Given the description of an element on the screen output the (x, y) to click on. 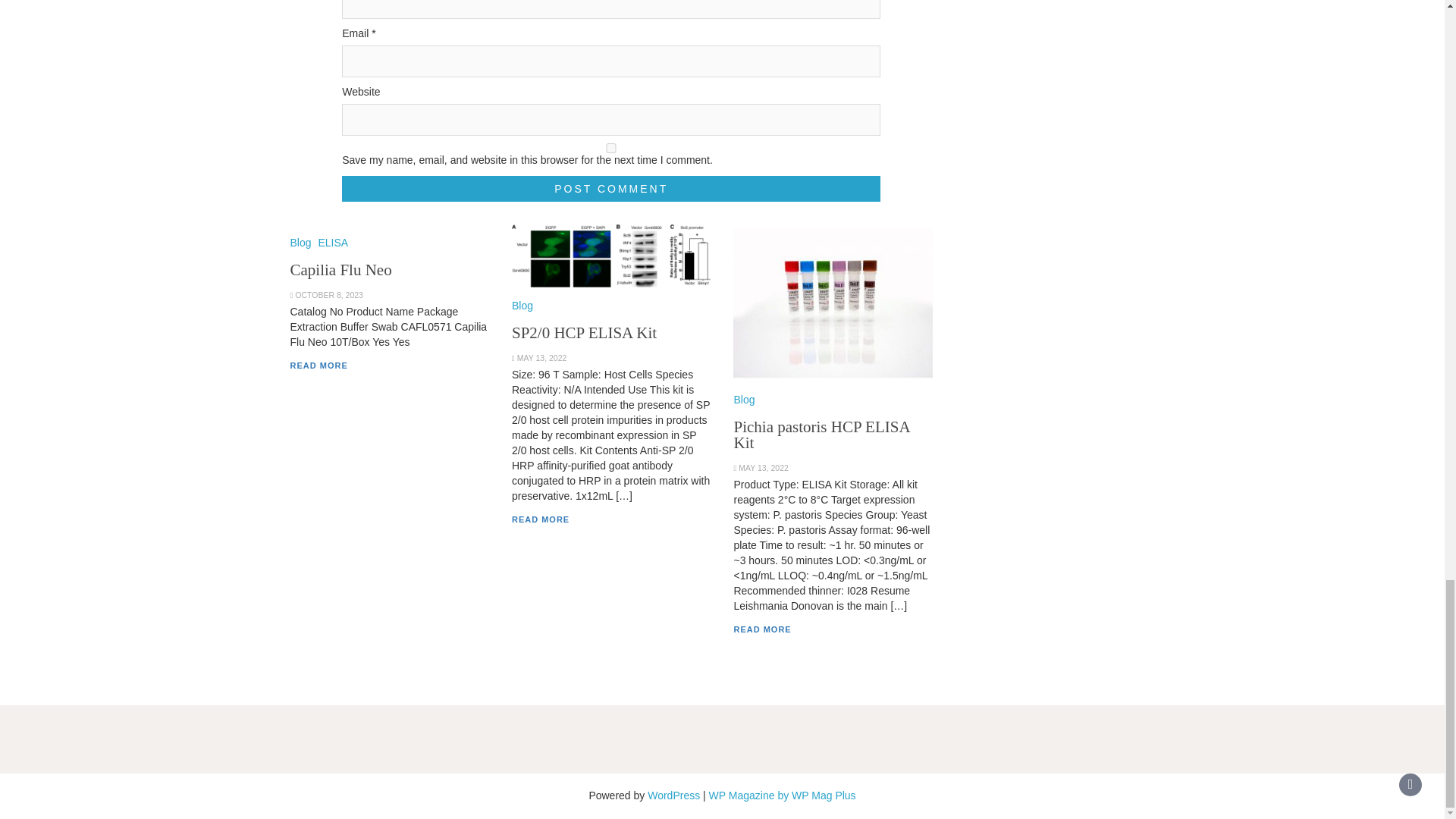
Post Comment (611, 188)
Blog (300, 242)
READ MORE (761, 628)
READ MORE (318, 365)
MAY 13, 2022 (763, 467)
ELISA (332, 242)
OCTOBER 8, 2023 (328, 294)
MAY 13, 2022 (541, 357)
Post Comment (611, 188)
Blog (522, 305)
